Given the description of an element on the screen output the (x, y) to click on. 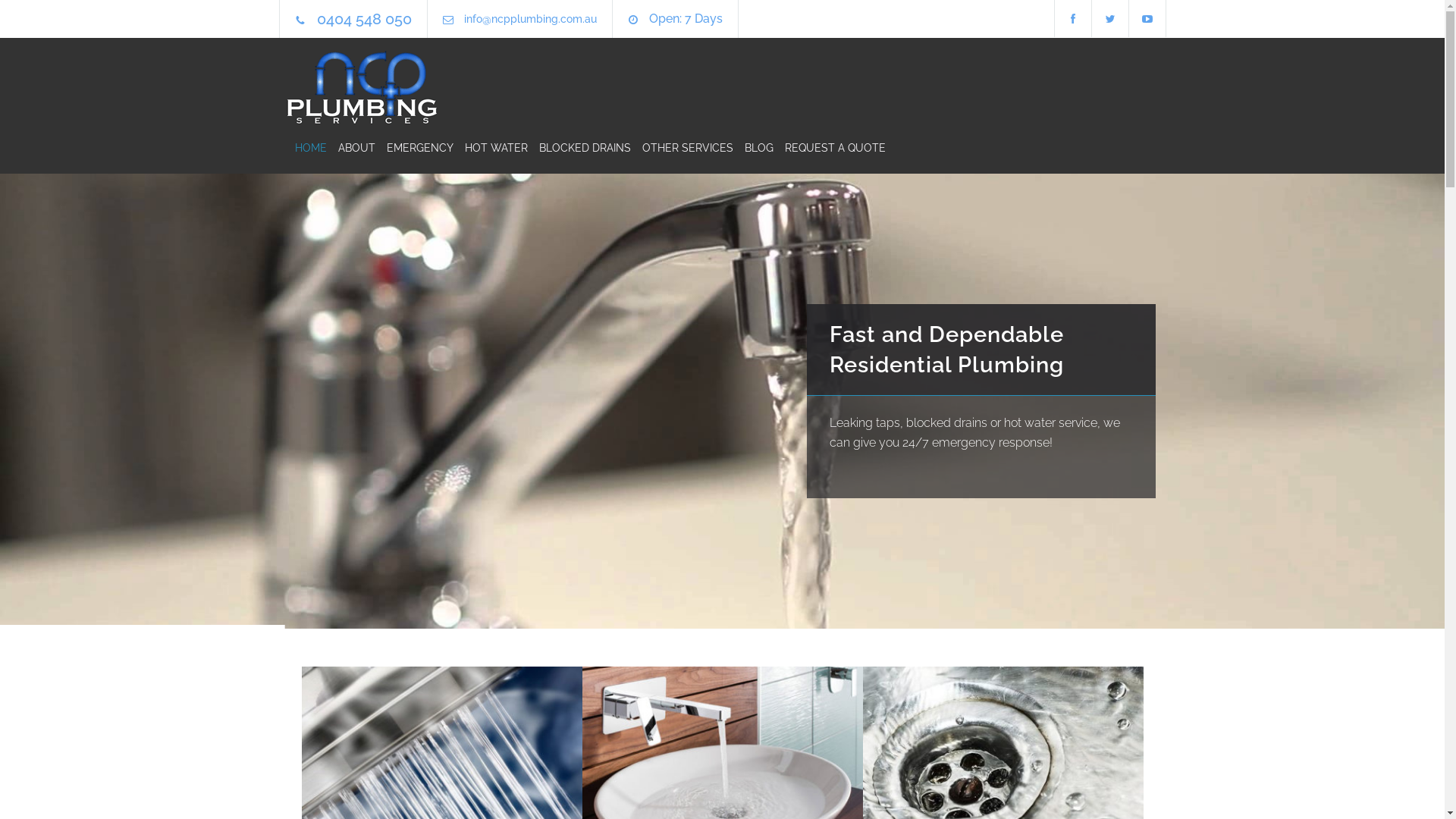
HOME Element type: text (310, 147)
HOT WATER Element type: text (490, 147)
ABOUT Element type: text (350, 147)
EMERGENCY Element type: text (413, 147)
info@ncpplumbing.com.au Element type: text (530, 18)
0404 548 050 Element type: text (363, 18)
Professional and Skilled Commercial Plumbing Element type: text (961, 339)
OTHER SERVICES Element type: text (681, 147)
BLOCKED DRAINS Element type: text (578, 147)
BLOG Element type: text (752, 147)
REQUEST A QUOTE Element type: text (829, 147)
